Given the description of an element on the screen output the (x, y) to click on. 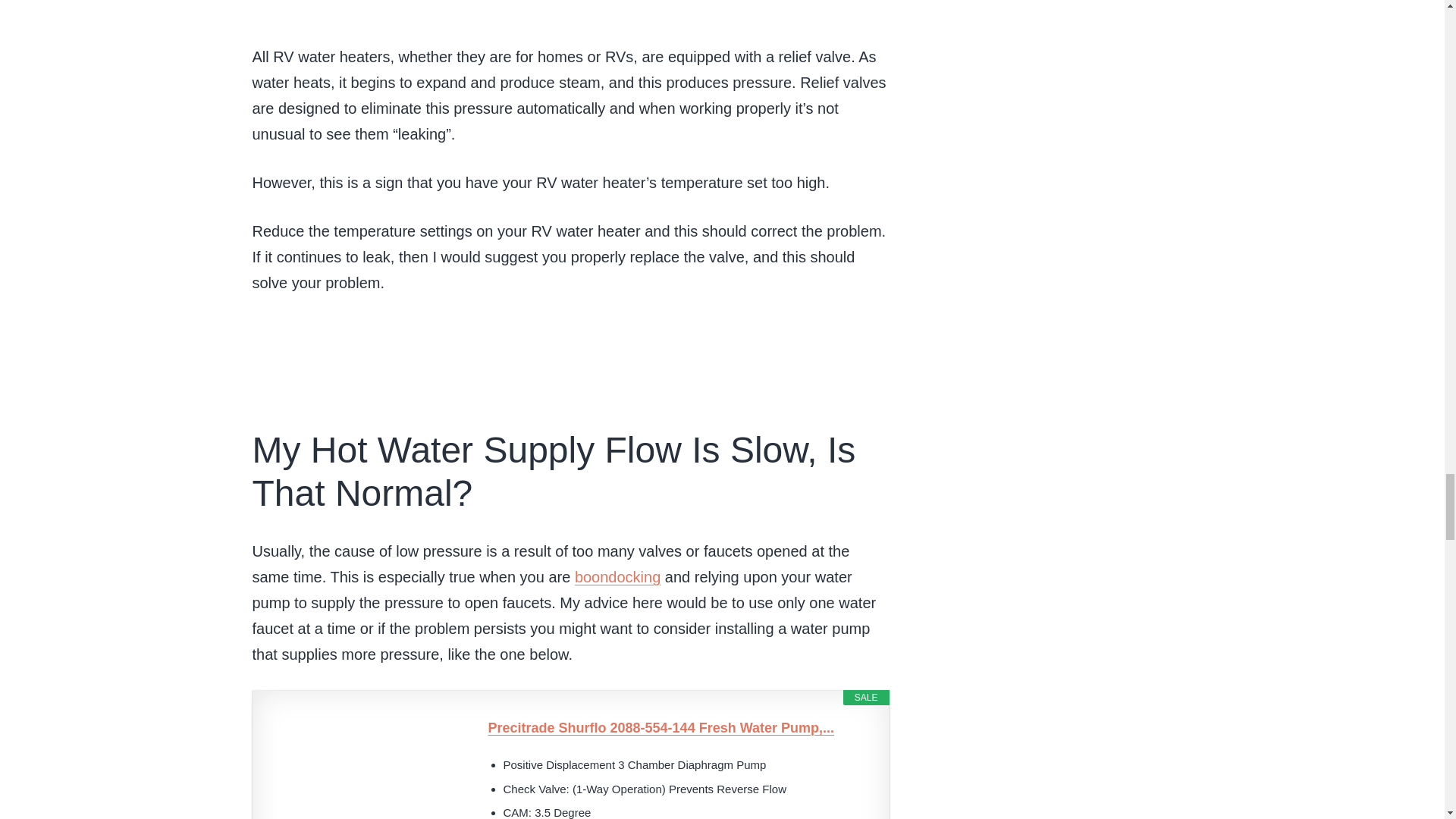
Precitrade Shurflo 2088-554-144 Fresh Water Pump,... (680, 728)
boondocking (618, 576)
Precitrade Shurflo 2088-554-144 Fresh Water Pump,... (680, 728)
Precitrade Shurflo 2088-554-144 Fresh Water Pump,... (362, 768)
